Given the description of an element on the screen output the (x, y) to click on. 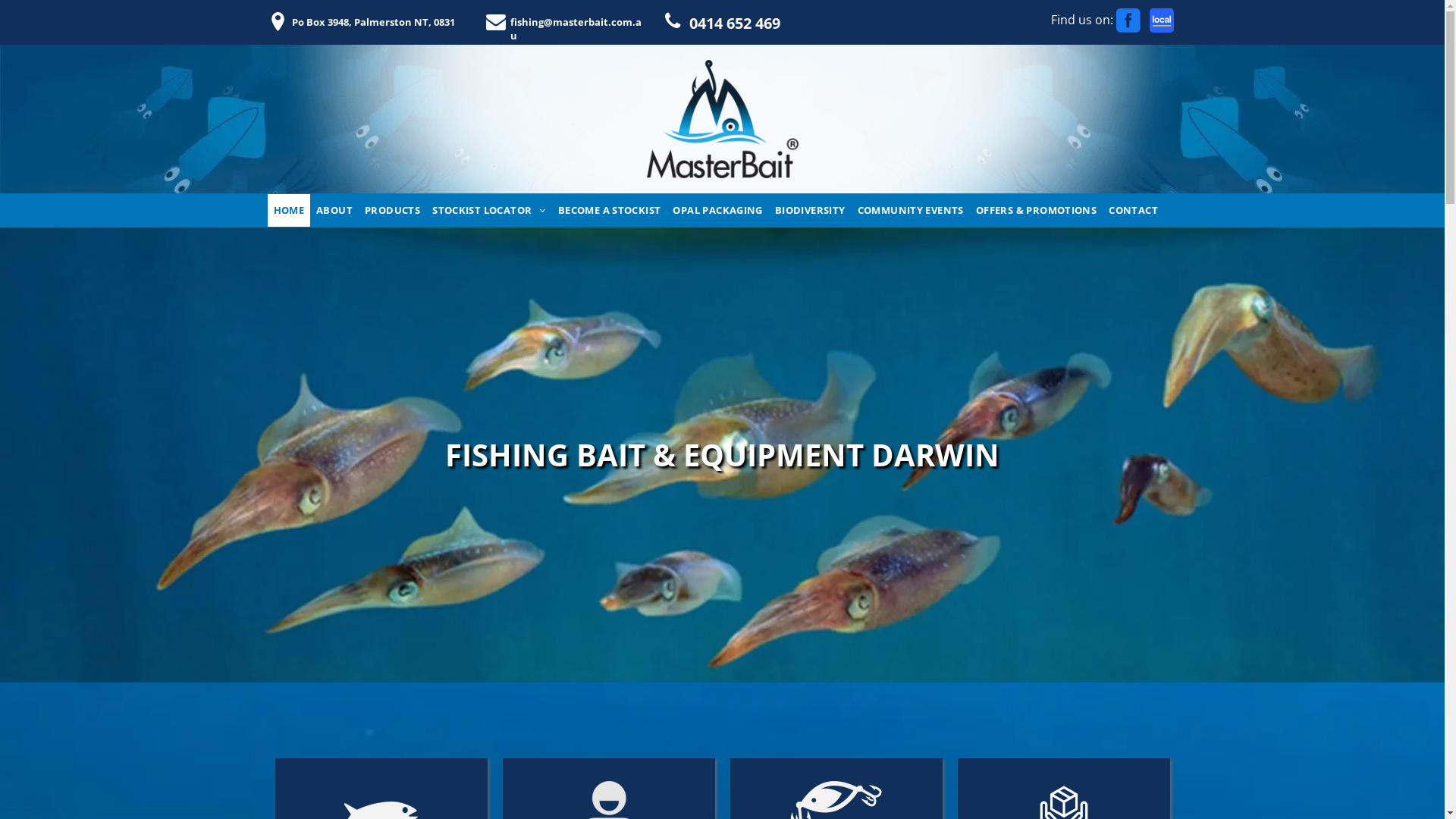
PRODUCTS Element type: text (392, 210)
OPAL PACKAGING Element type: text (717, 210)
0414 652 469 Element type: text (752, 20)
FISHING BAIT & EQUIPMENT DARWIN Element type: hover (721, 118)
www.localsearch.com.au Element type: hover (1161, 20)
HOME Element type: text (288, 210)
BIODIVERSITY Element type: text (809, 210)
BECOME A STOCKIST Element type: text (609, 210)
COMMUNITY EVENTS Element type: text (910, 210)
Find Us On Facebook Element type: hover (1128, 20)
Po Box 3948, Palmerston NT, 0831 Element type: text (369, 21)
CONTACT Element type: text (1133, 210)
fishing@masterbait.com.au Element type: text (570, 21)
OFFERS & PROMOTIONS Element type: text (1035, 210)
ABOUT Element type: text (334, 210)
STOCKIST LOCATOR Element type: text (489, 210)
